Given the description of an element on the screen output the (x, y) to click on. 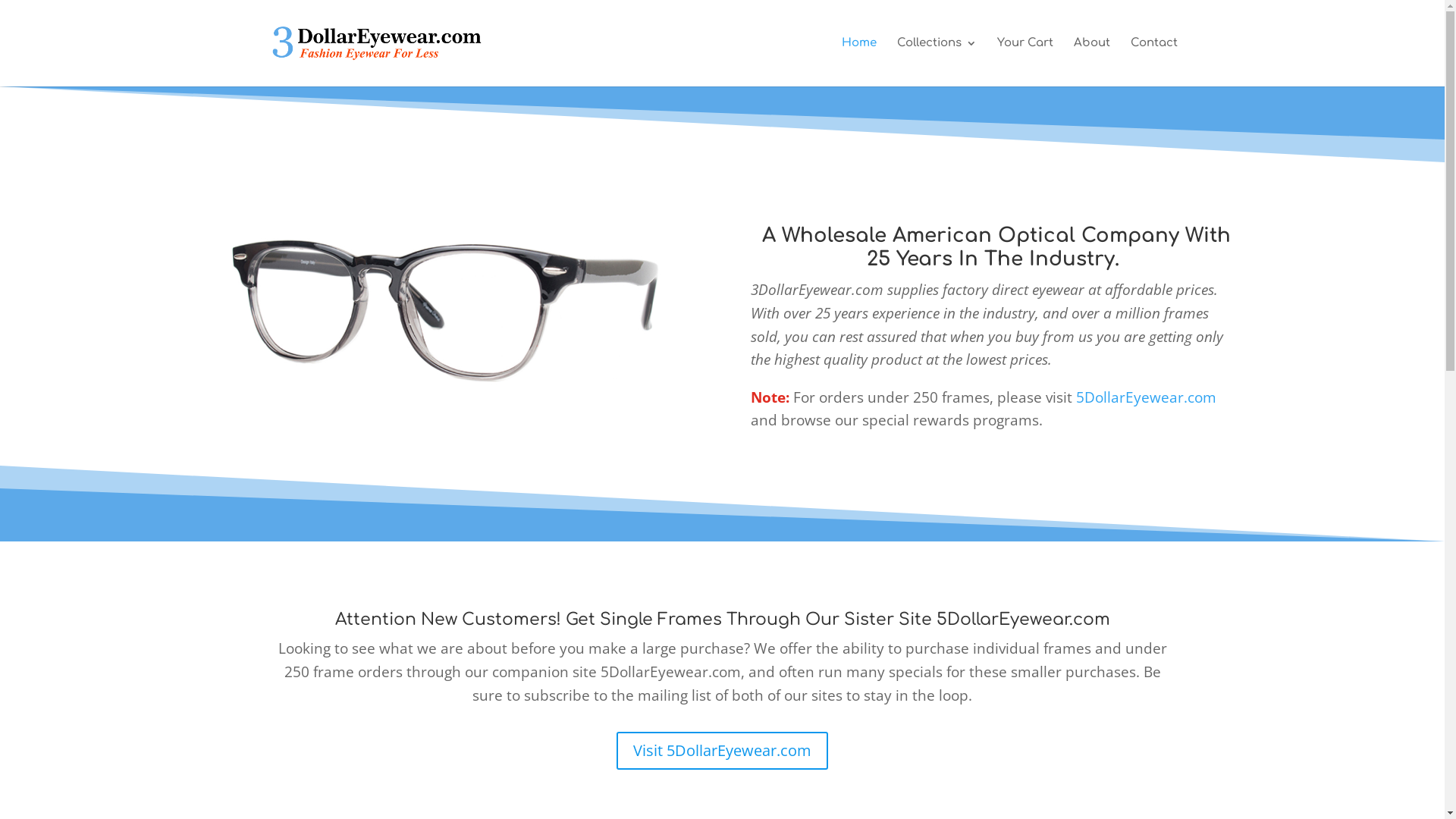
5DollarEyewear.com Element type: text (1146, 397)
Contact Element type: text (1152, 61)
Visit 5DollarEyewear.com Element type: text (722, 750)
Your Cart Element type: text (1024, 61)
Collections Element type: text (935, 61)
About Element type: text (1091, 61)
Home Element type: text (858, 61)
